Given the description of an element on the screen output the (x, y) to click on. 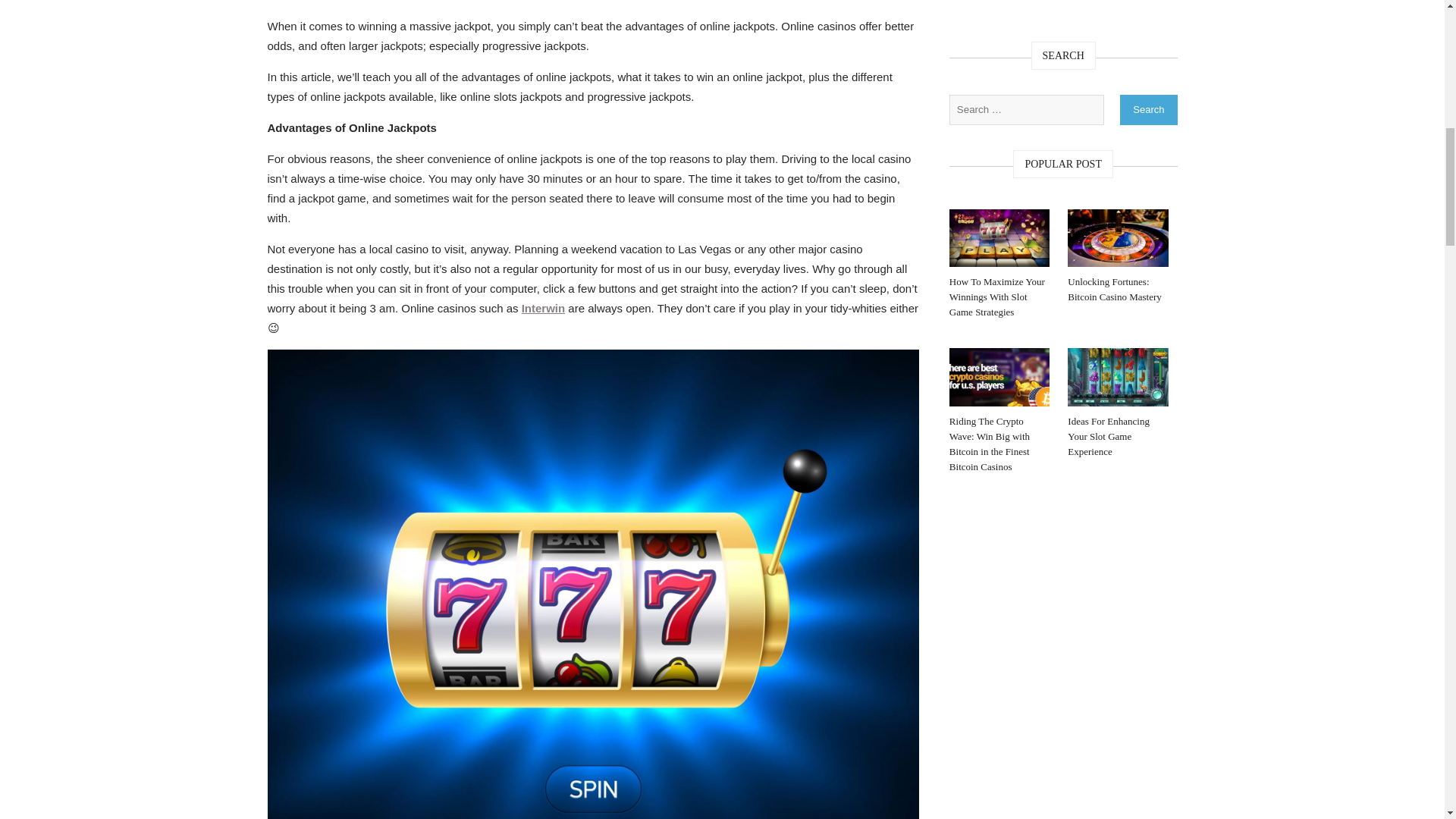
How To Maximize Your Winnings With Slot Game Strategies (999, 241)
How To Maximize Your Winnings With Slot Game Strategies (999, 297)
Unlocking Fortunes: Bitcoin Casino Mastery (1117, 241)
Search (1147, 109)
Unlocking Fortunes: Bitcoin Casino Mastery (1117, 289)
Unlocking Fortunes: Bitcoin Casino Mastery (1117, 237)
How To Maximize Your Winnings With Slot Game Strategies (999, 237)
Interwin (543, 308)
Search (1147, 109)
How To Maximize Your Winnings With Slot Game Strategies (999, 297)
